Given the description of an element on the screen output the (x, y) to click on. 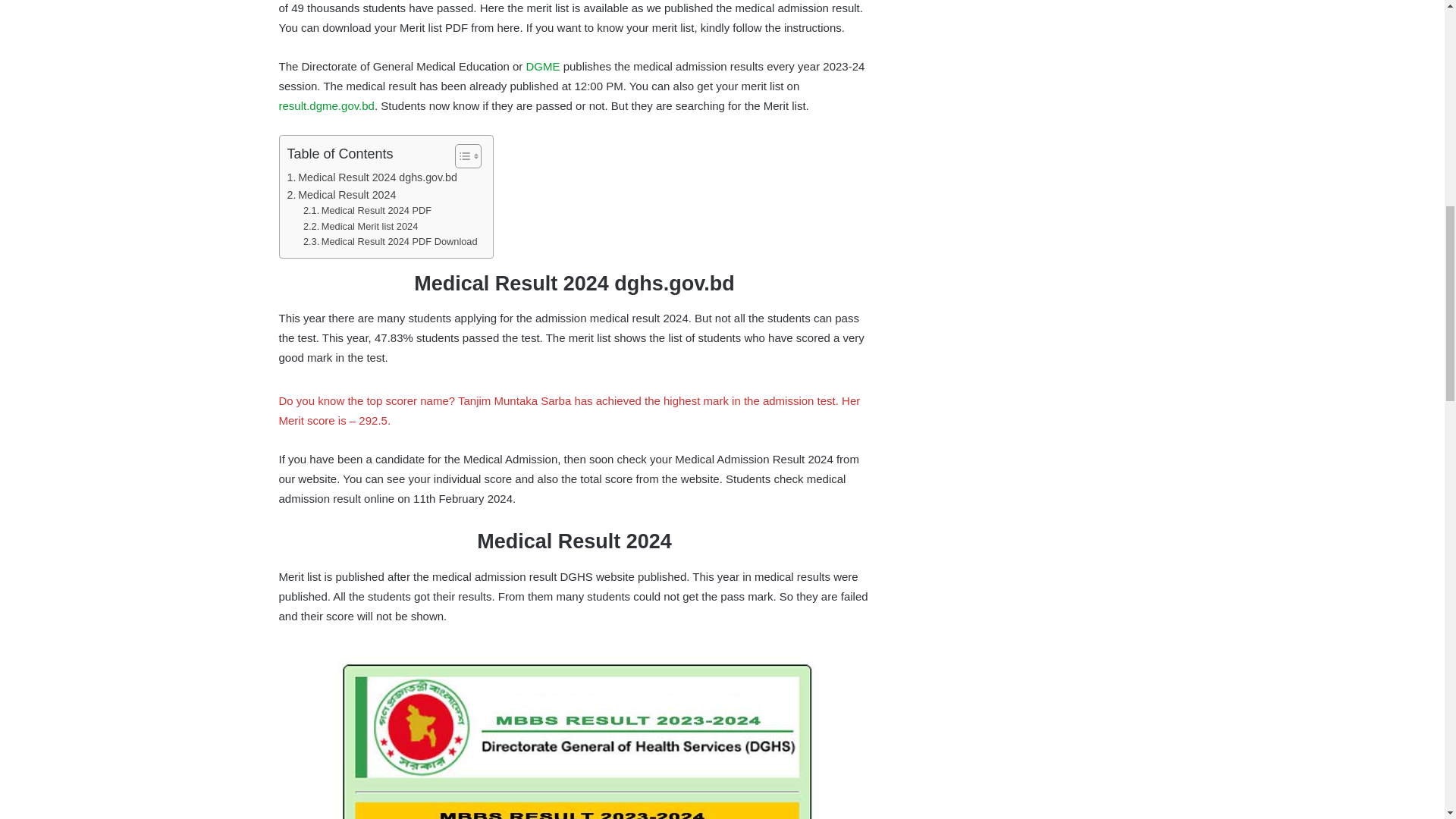
Medical Result 2024 PDF (366, 211)
Medical Result 2024 (341, 194)
Back to top button (1413, 60)
result.dgme.gov.bd (326, 105)
Medical Result 2024 (341, 194)
Medical Result 2024 dghs.gov.bd (371, 177)
Medical Result 2024 dghs.gov.bd (371, 177)
Medical Result 2024 PDF (366, 211)
Medical Merit list 2024 (359, 227)
Medical Result 2024 PDF Download (389, 242)
Medical Result 2024 PDF Download (389, 242)
DGME (542, 65)
Medical Merit list 2024 (359, 227)
